Given the description of an element on the screen output the (x, y) to click on. 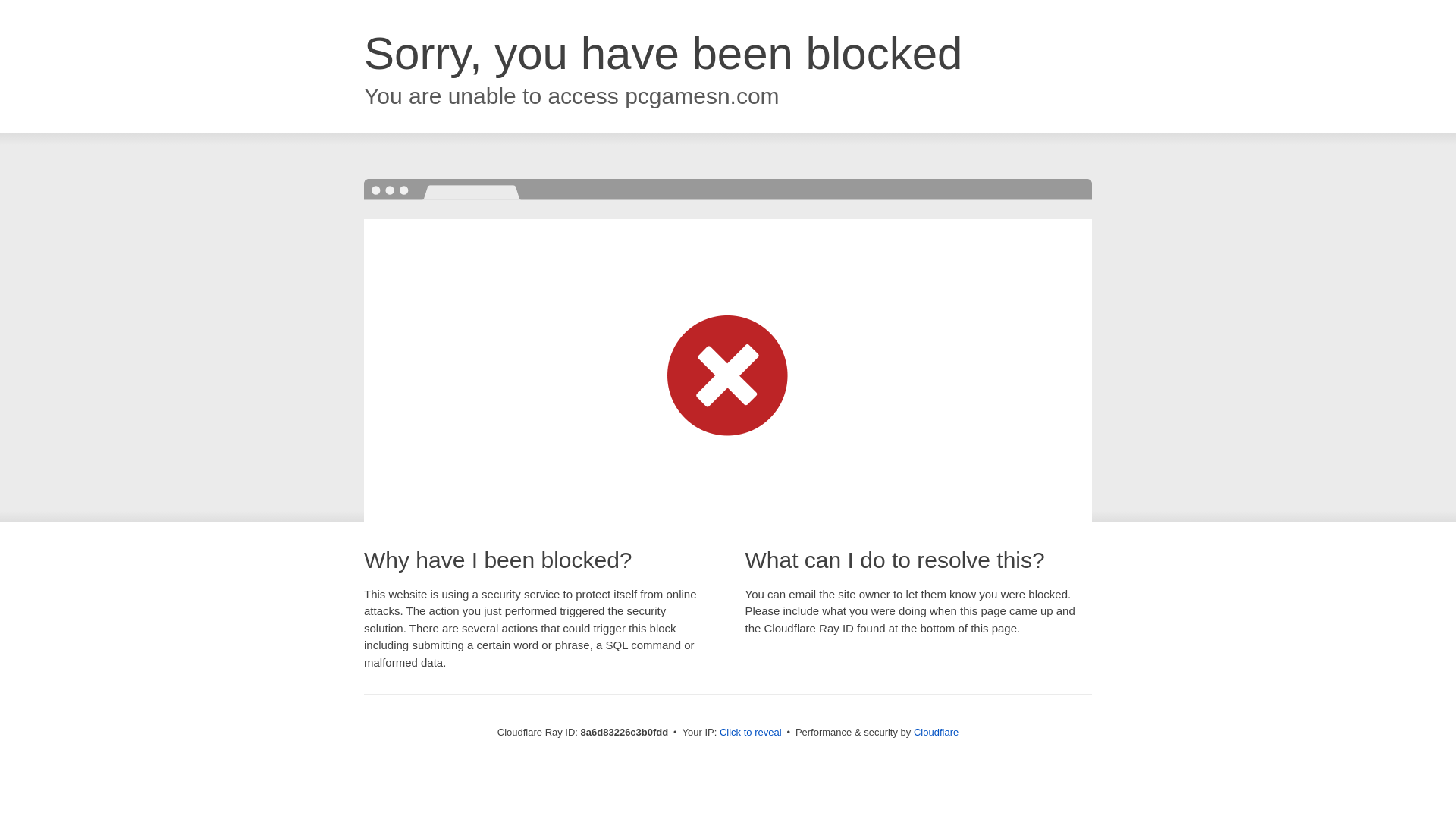
Cloudflare (936, 731)
Click to reveal (750, 732)
